Given the description of an element on the screen output the (x, y) to click on. 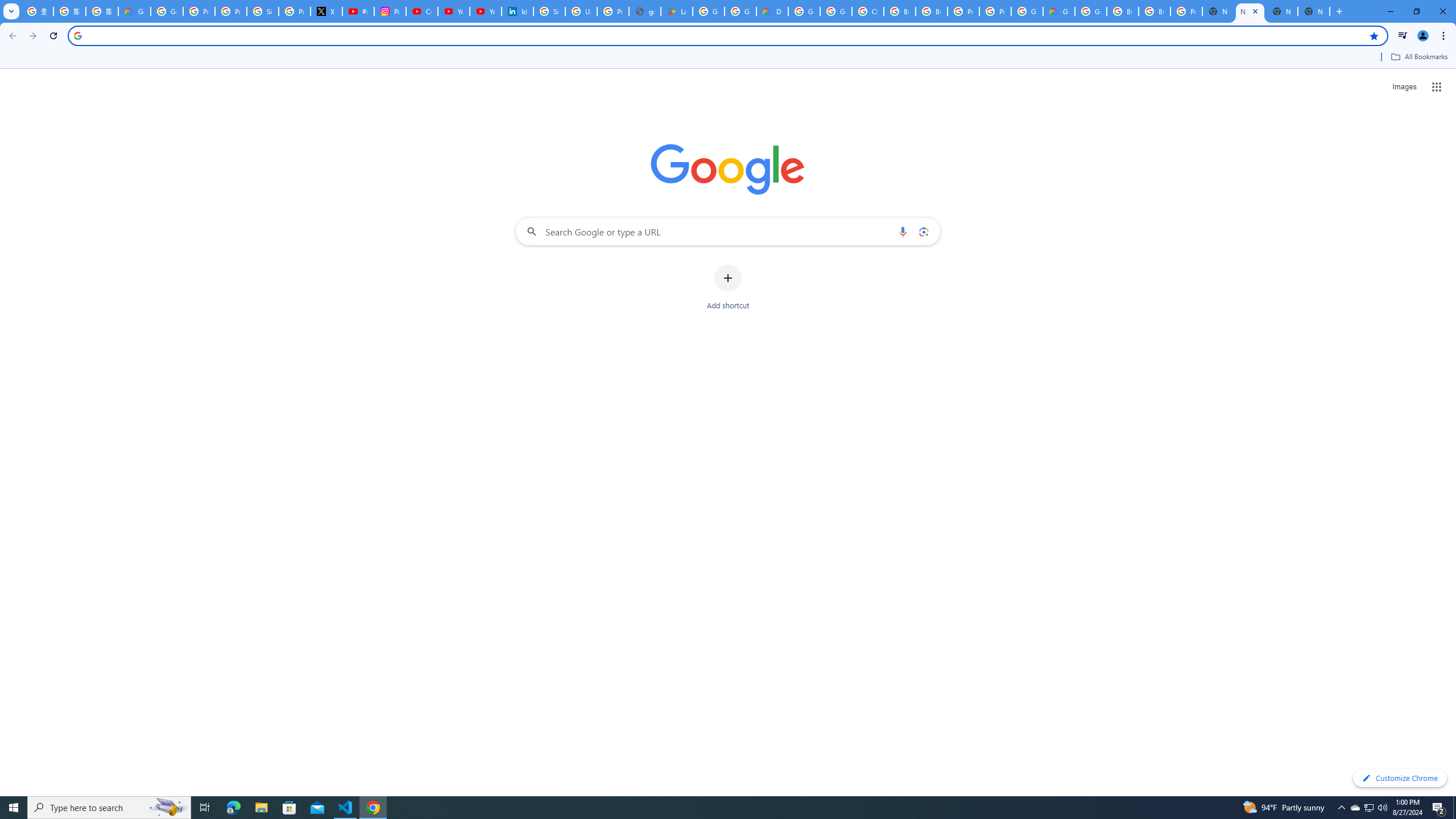
Add shortcut (727, 287)
YouTube Culture & Trends - YouTube Top 10, 2021 (485, 11)
Google Cloud Estimate Summary (1059, 11)
Browse Chrome as a guest - Computer - Google Chrome Help (899, 11)
#nbabasketballhighlights - YouTube (358, 11)
Sign in - Google Accounts (262, 11)
google_privacy_policy_en.pdf (644, 11)
Last Shelter: Survival - Apps on Google Play (676, 11)
